Given the description of an element on the screen output the (x, y) to click on. 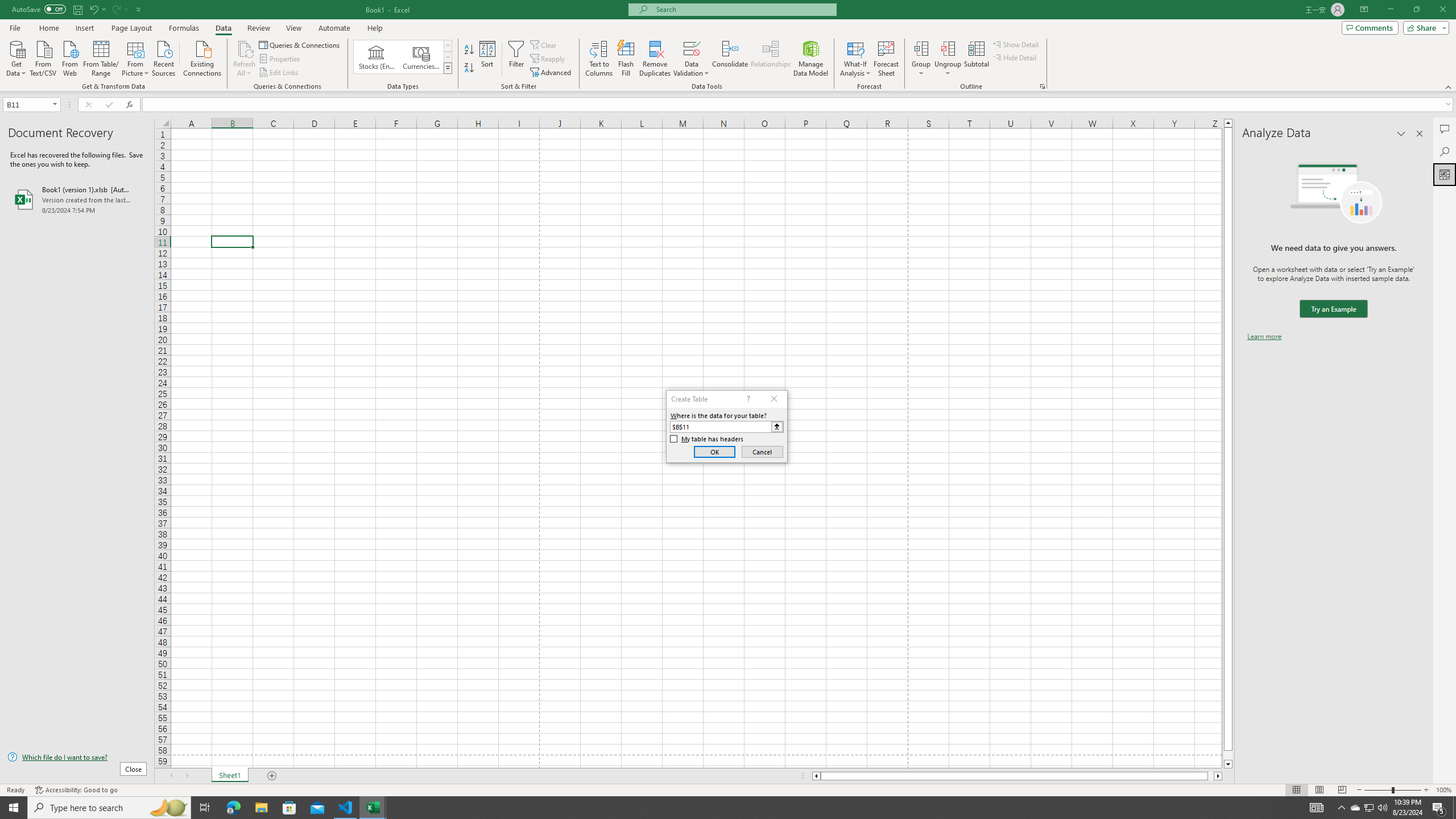
Relationships (770, 58)
From Picture (135, 57)
Learn more (1264, 336)
From Table/Range (100, 57)
Group... (921, 58)
Close pane (1419, 133)
Recent Sources (163, 57)
What-If Analysis (855, 58)
